Given the description of an element on the screen output the (x, y) to click on. 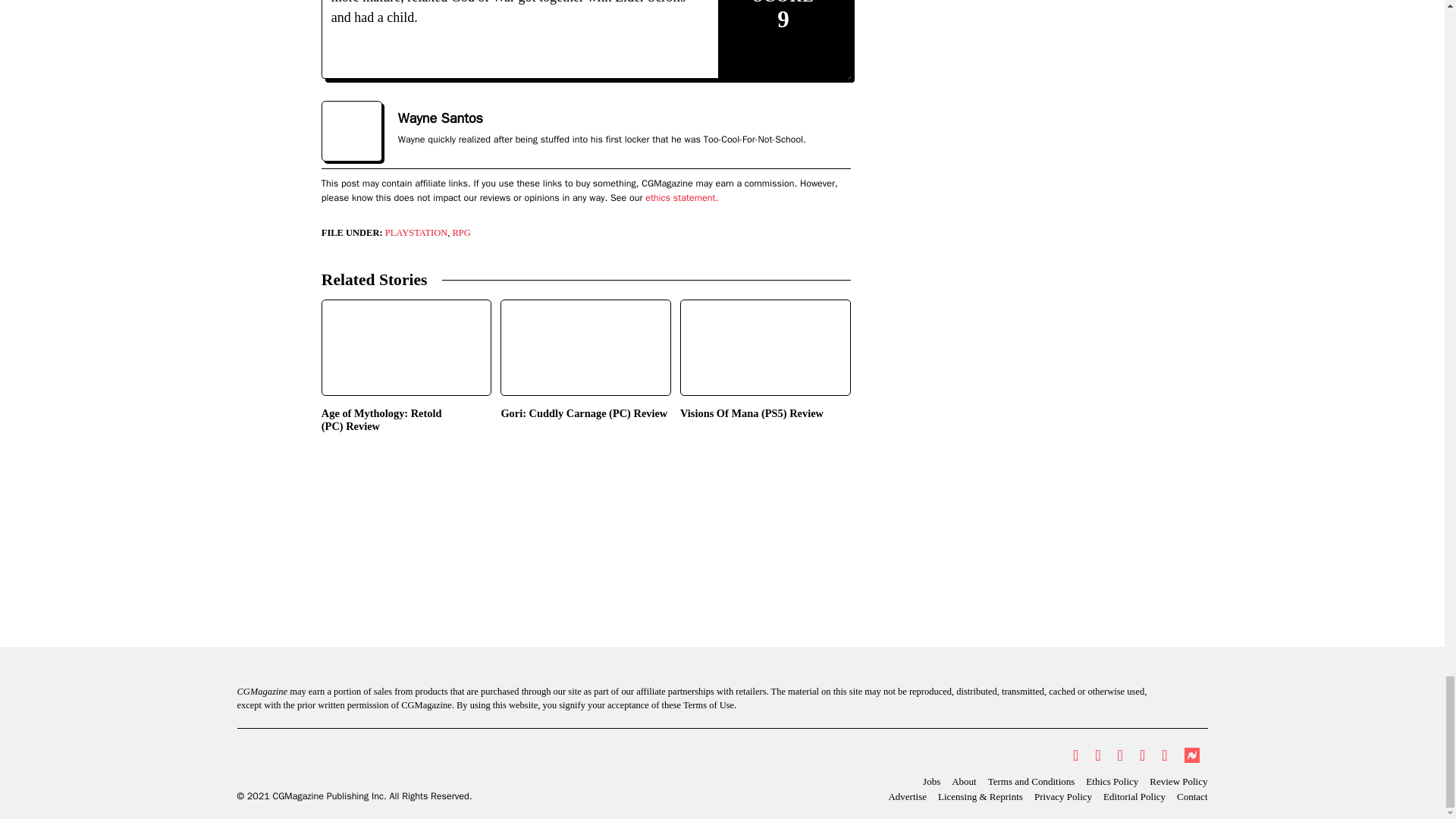
Twitter Profile (1075, 754)
Flipboard Page (1163, 754)
CGMagazine (353, 762)
Wayne Santos (440, 118)
Instagram Profile (1120, 754)
Facebook Page (1097, 754)
YouTube Page (1142, 754)
NewsBreak (1190, 754)
